Given the description of an element on the screen output the (x, y) to click on. 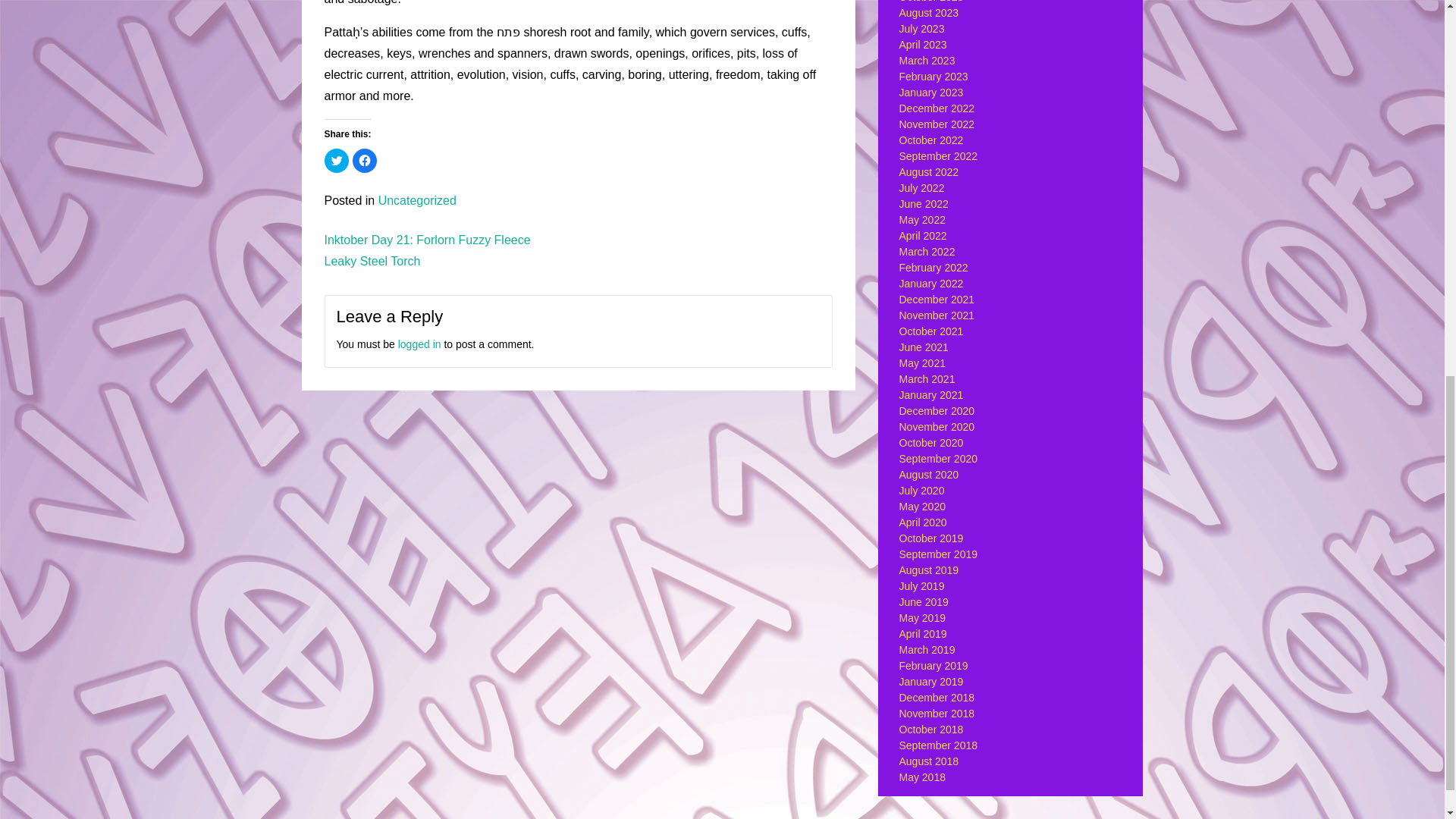
Click to share on Twitter (336, 160)
October 2023 (931, 1)
August 2023 (929, 12)
April 2023 (923, 44)
Inktober Day 21: Forlorn Fuzzy Fleece (427, 239)
July 2023 (921, 28)
Leaky Steel Torch (372, 260)
logged in (419, 344)
Click to share on Facebook (363, 160)
Uncategorized (417, 200)
